Given the description of an element on the screen output the (x, y) to click on. 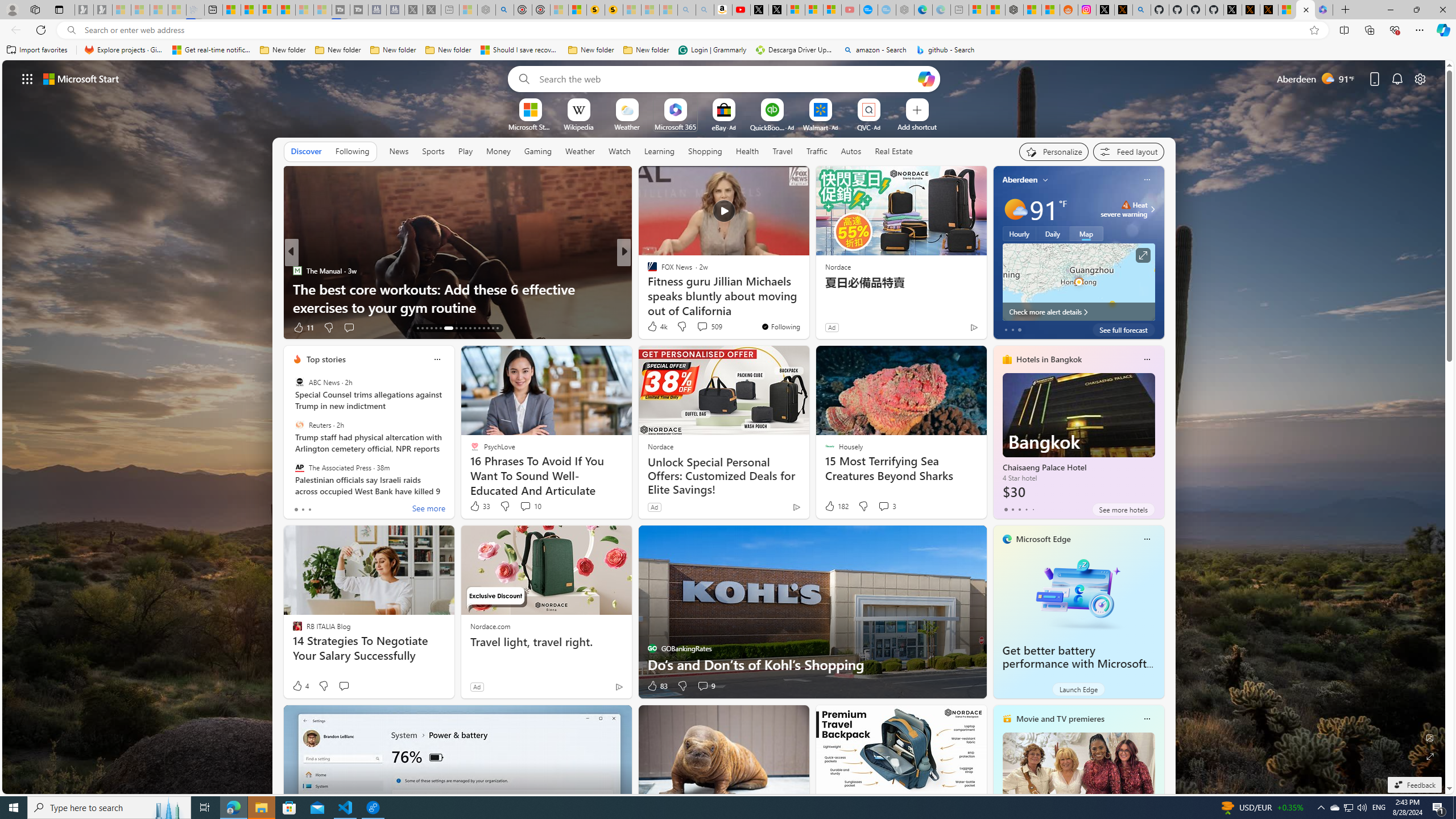
Nordace Personal Offers (807, 307)
AutomationID: tab-19 (444, 328)
News (398, 151)
Chip Chick (296, 270)
Like (648, 327)
My location (1045, 179)
AutomationID: tab-29 (497, 328)
Import favorites (36, 49)
